Given the description of an element on the screen output the (x, y) to click on. 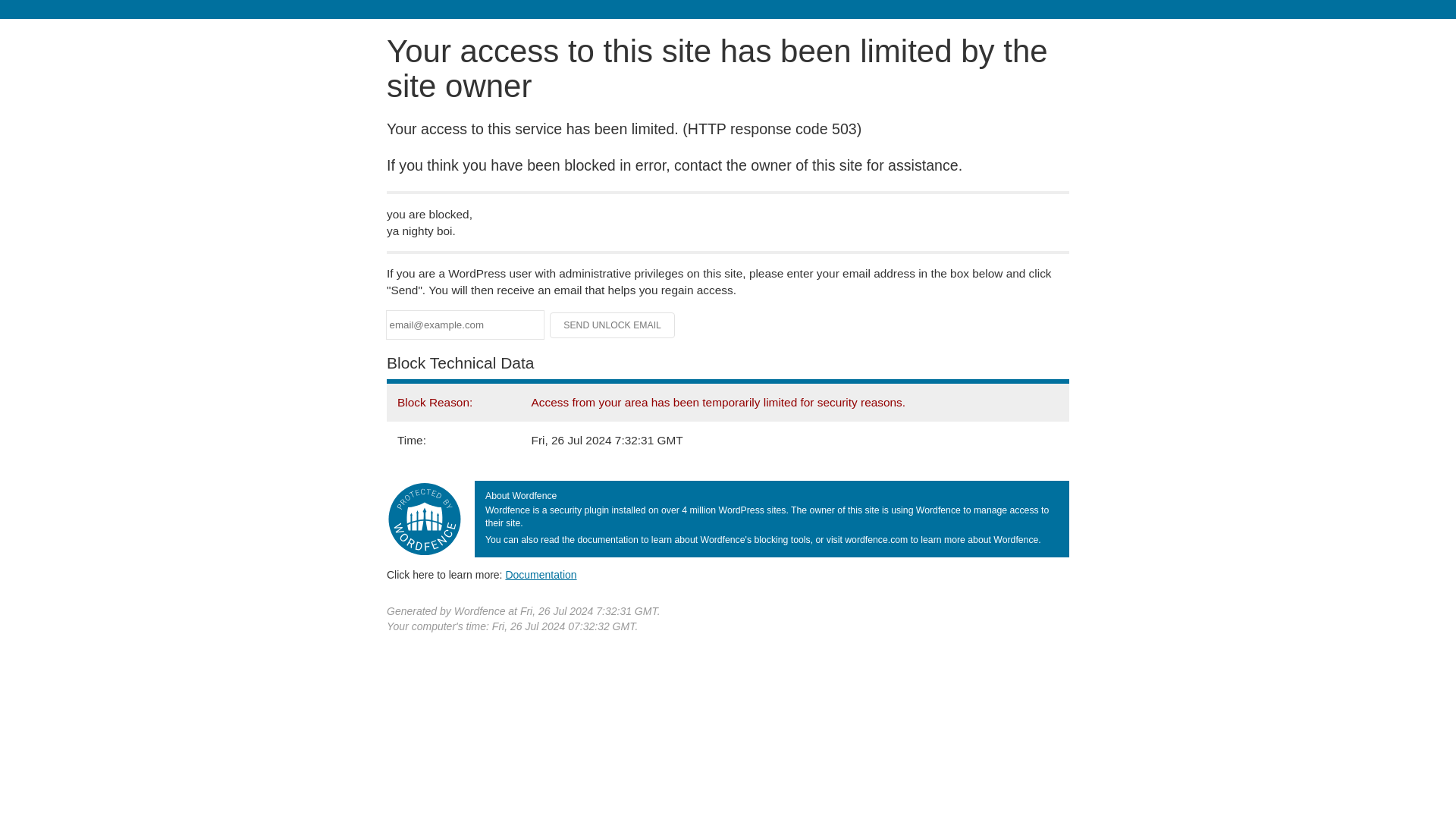
Send Unlock Email (612, 325)
Send Unlock Email (612, 325)
Documentation (540, 574)
